Given the description of an element on the screen output the (x, y) to click on. 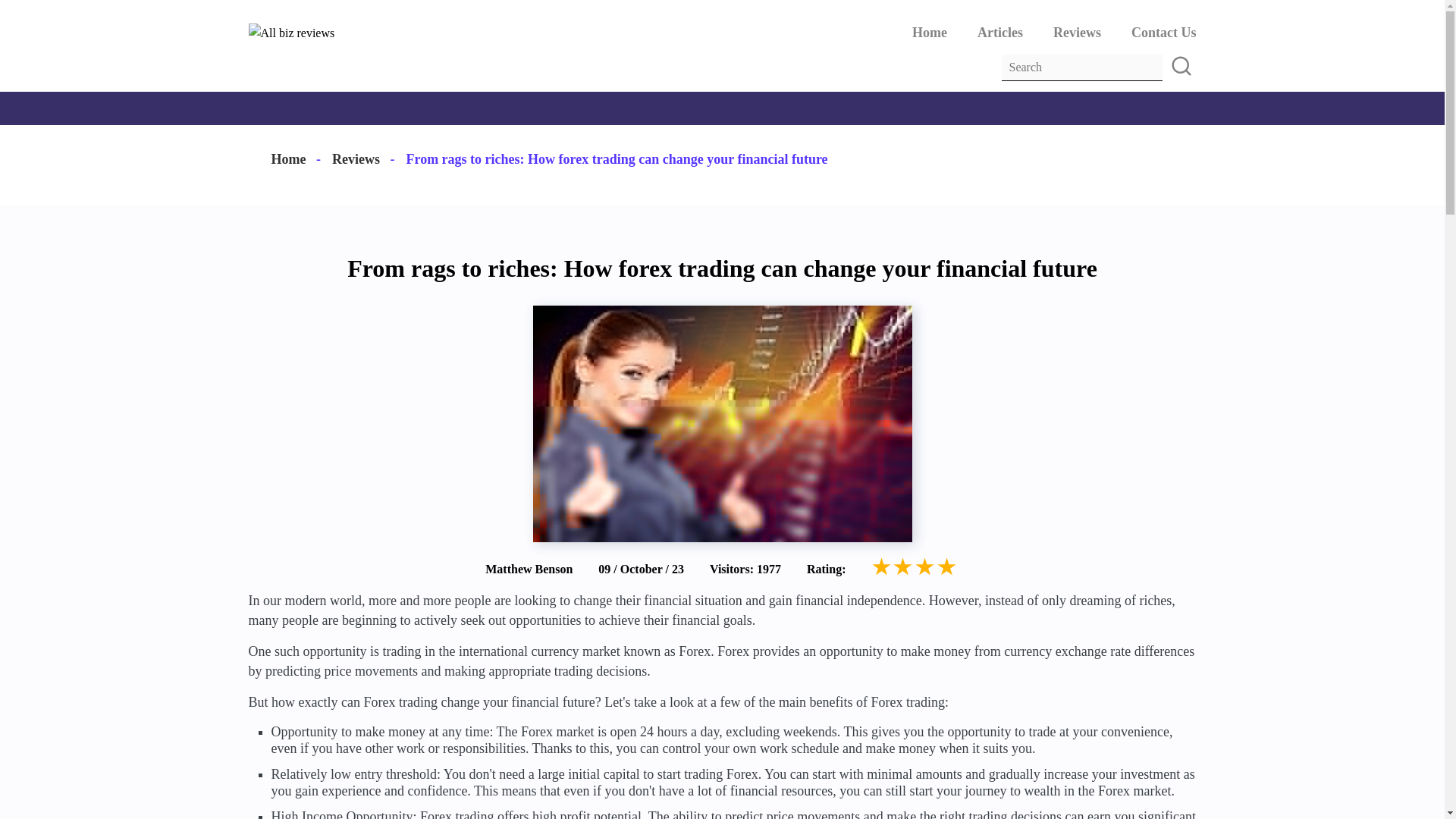
Articles (999, 32)
Reviews (355, 159)
Home (287, 159)
Home (929, 32)
All biz reviews (291, 32)
Reviews (355, 159)
Contact Us (1163, 32)
Home (287, 159)
Reviews (1076, 32)
